Given the description of an element on the screen output the (x, y) to click on. 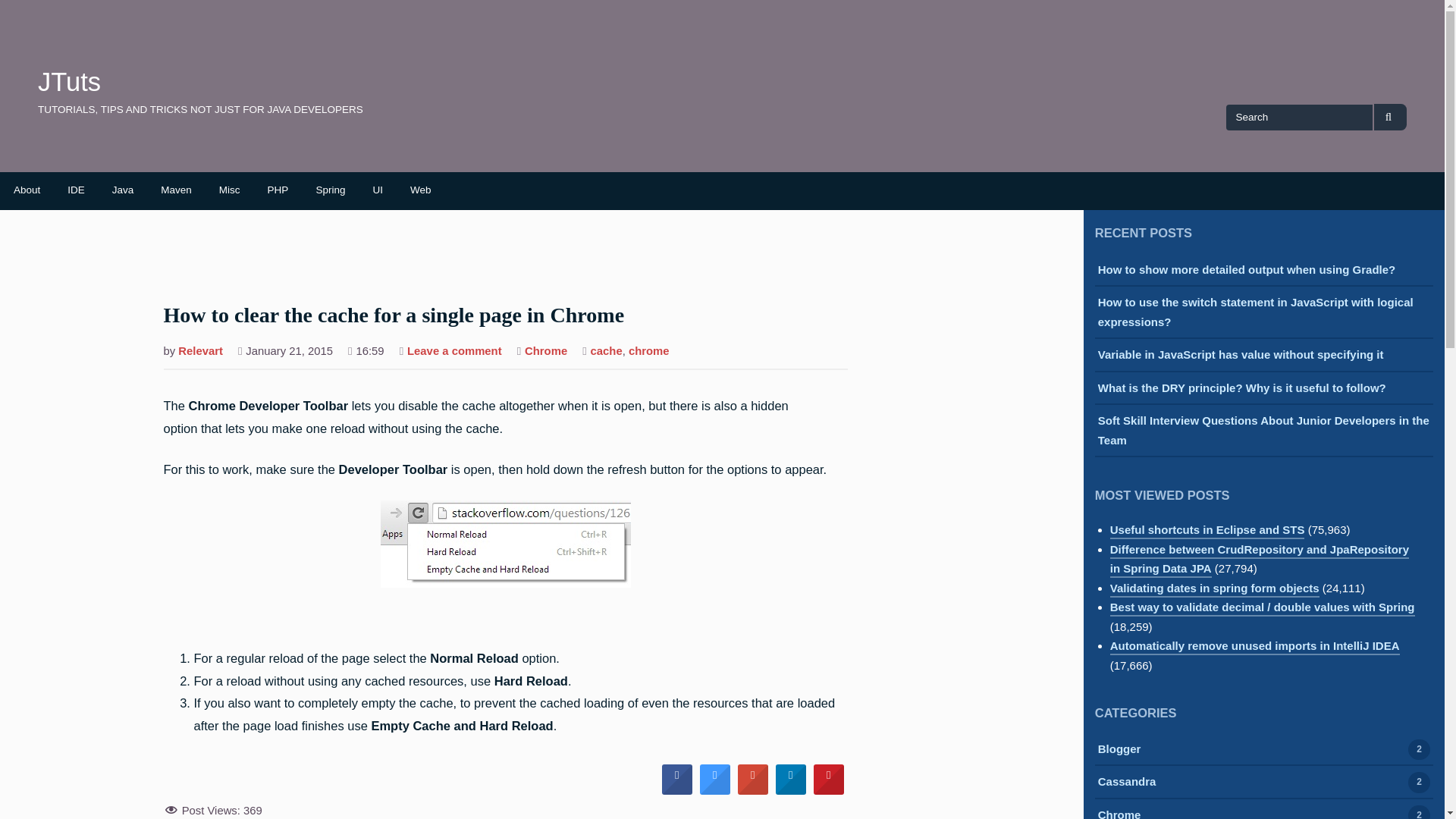
Chrome (545, 352)
Share on Twitter (715, 790)
About (26, 190)
Share on Facebook (677, 790)
Misc (229, 190)
Maven (176, 190)
Share on Google Plus (753, 790)
